Given the description of an element on the screen output the (x, y) to click on. 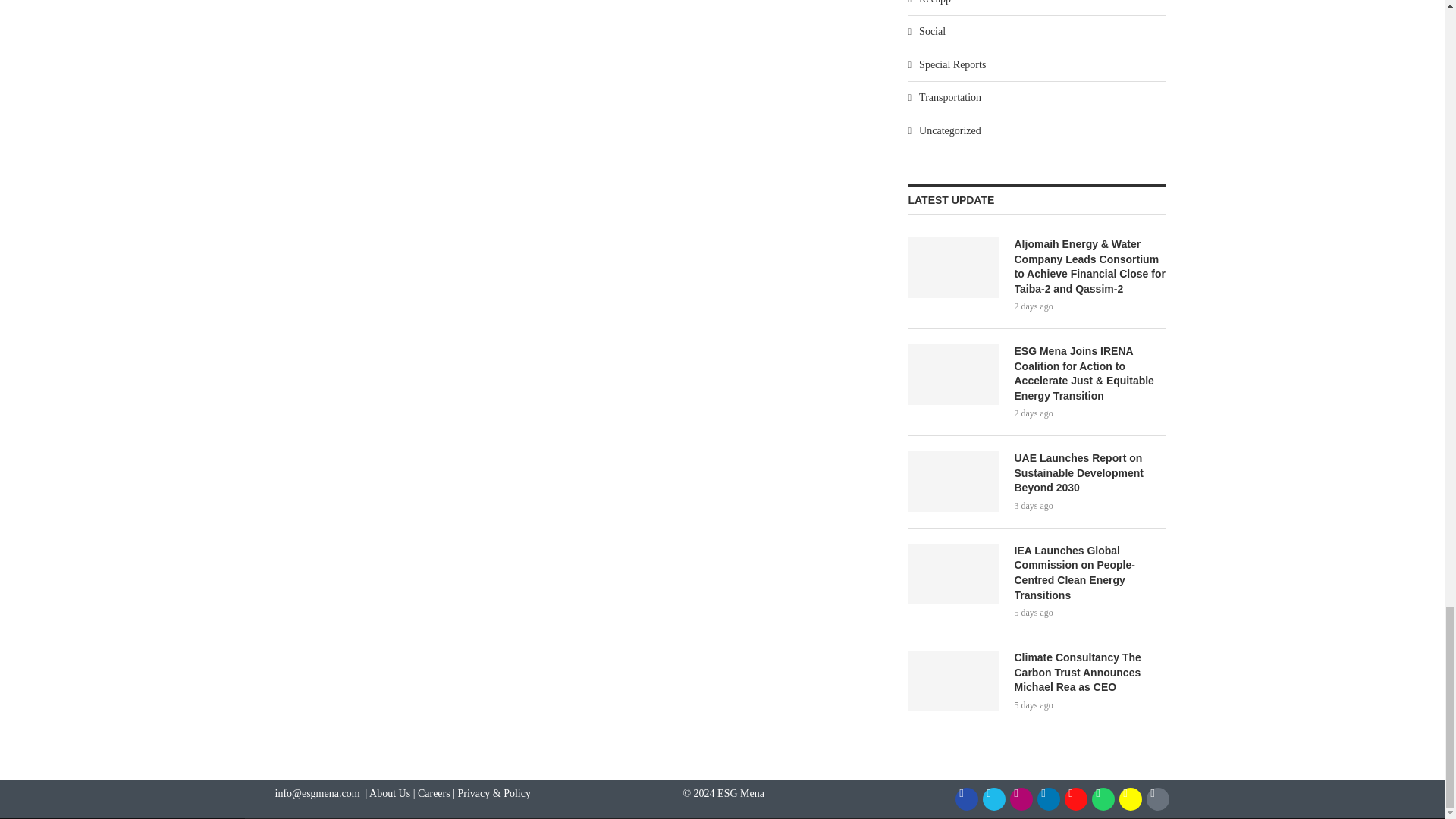
UAE Launches Report on Sustainable Development Beyond 2030 (953, 481)
UAE Launches Report on Sustainable Development Beyond 2030 (1090, 473)
